Given the description of an element on the screen output the (x, y) to click on. 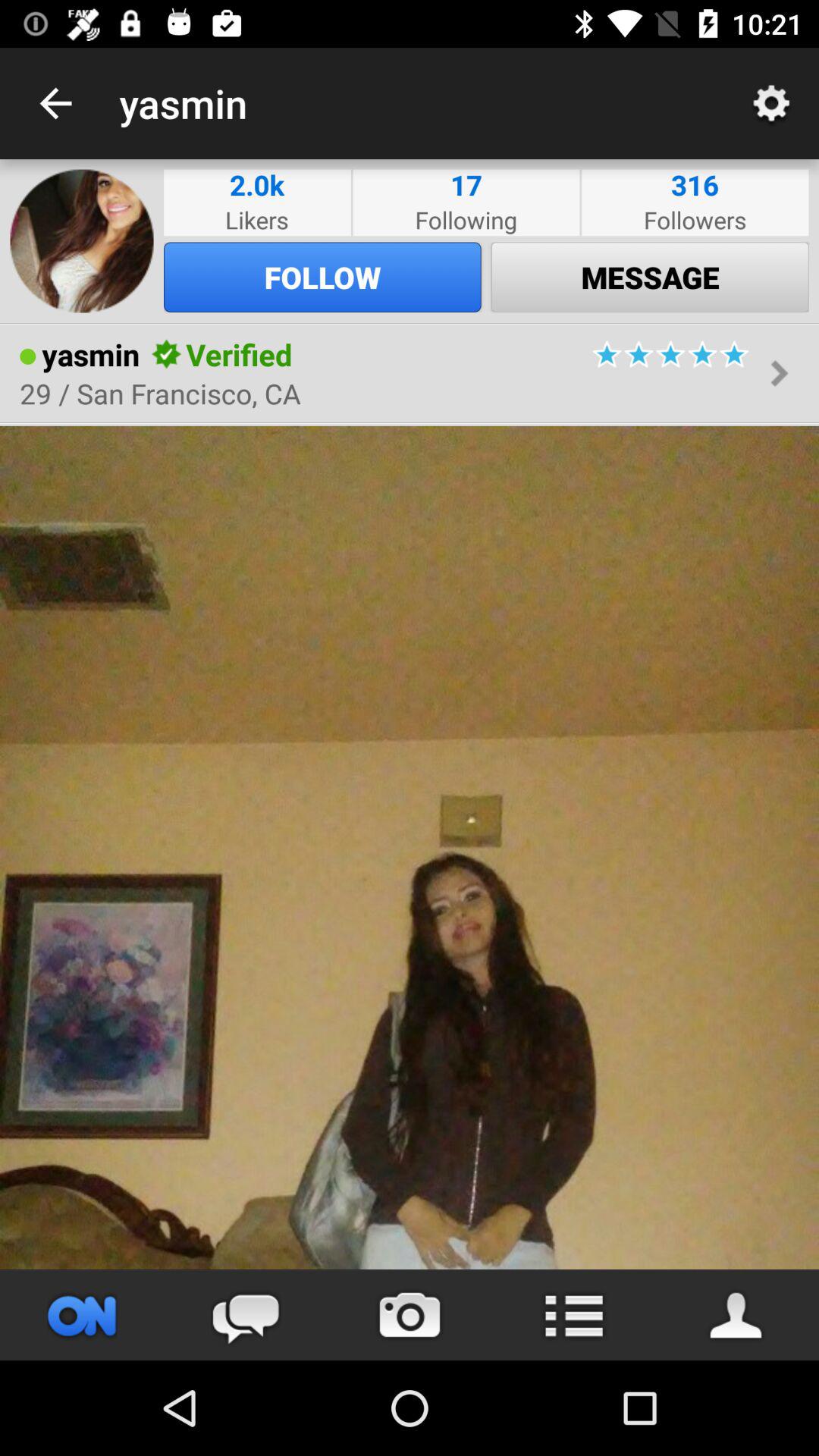
turn on icon to the left of following item (256, 184)
